Given the description of an element on the screen output the (x, y) to click on. 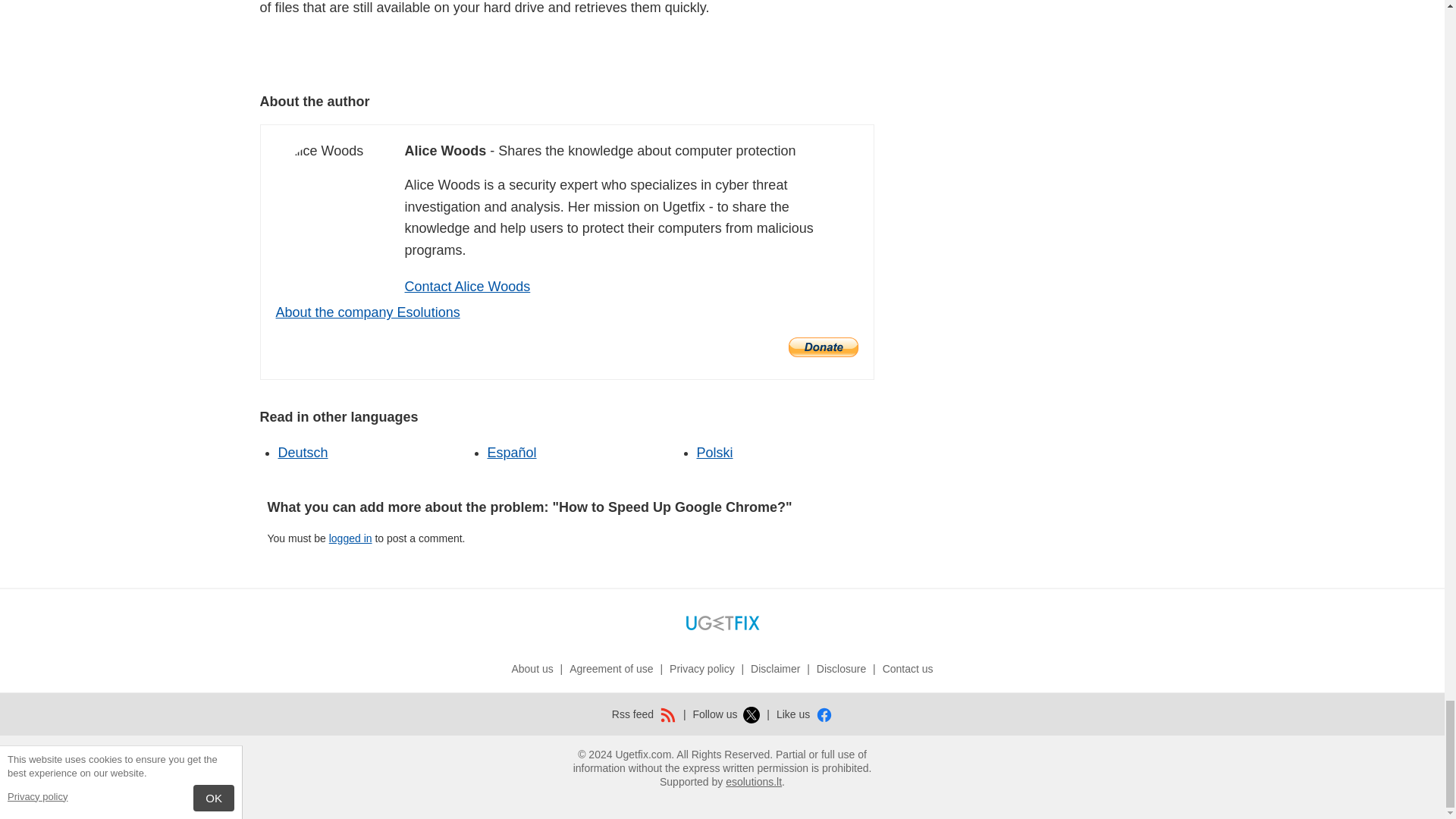
PayPal - The safer, easier way to pay online! (824, 347)
Polski (713, 452)
Alice Woods (320, 151)
Deutsch (302, 452)
